Given the description of an element on the screen output the (x, y) to click on. 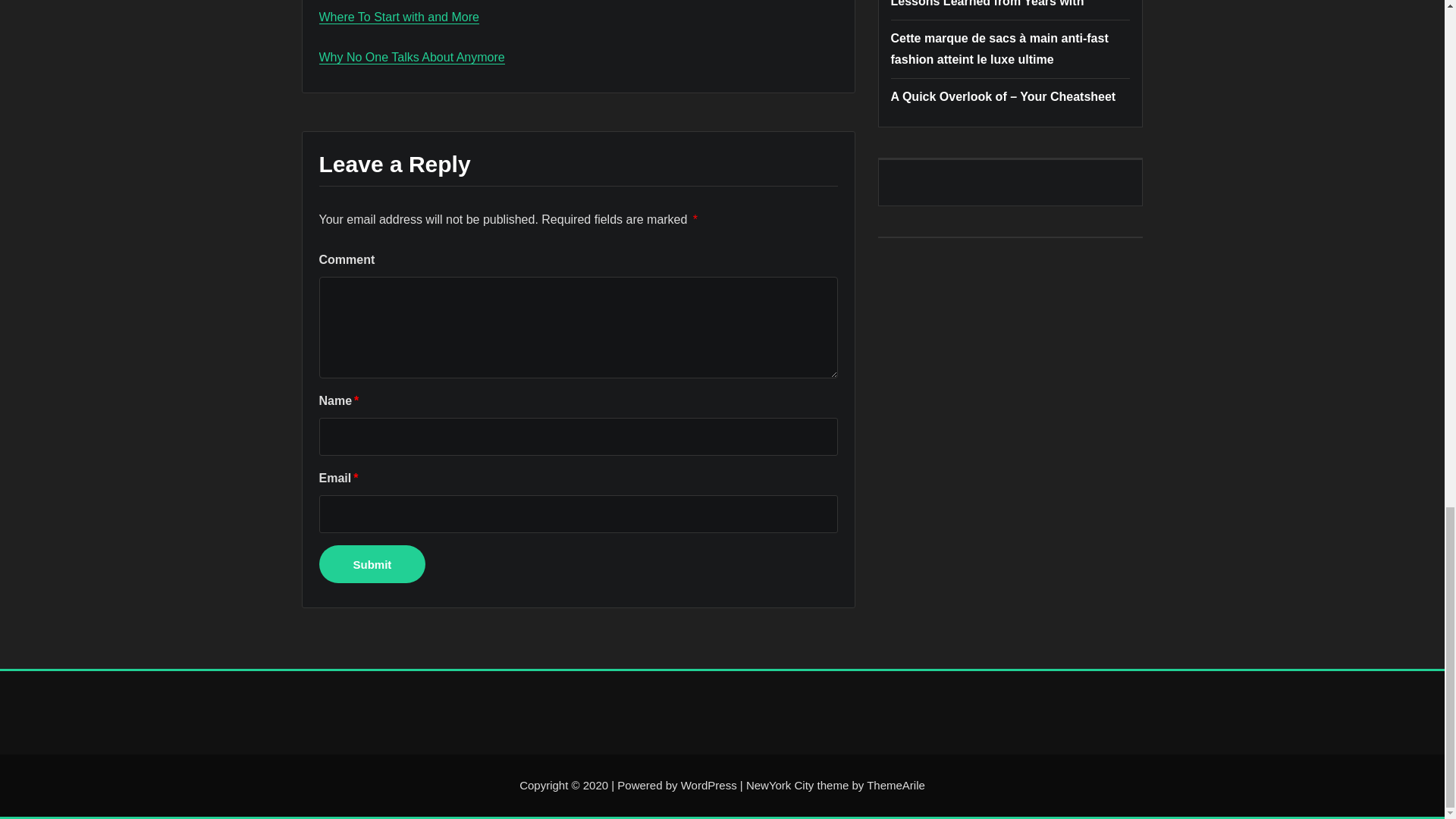
Submit (371, 564)
Submit (371, 564)
Why No One Talks About Anymore (410, 56)
Where To Start with and More (398, 16)
